Given the description of an element on the screen output the (x, y) to click on. 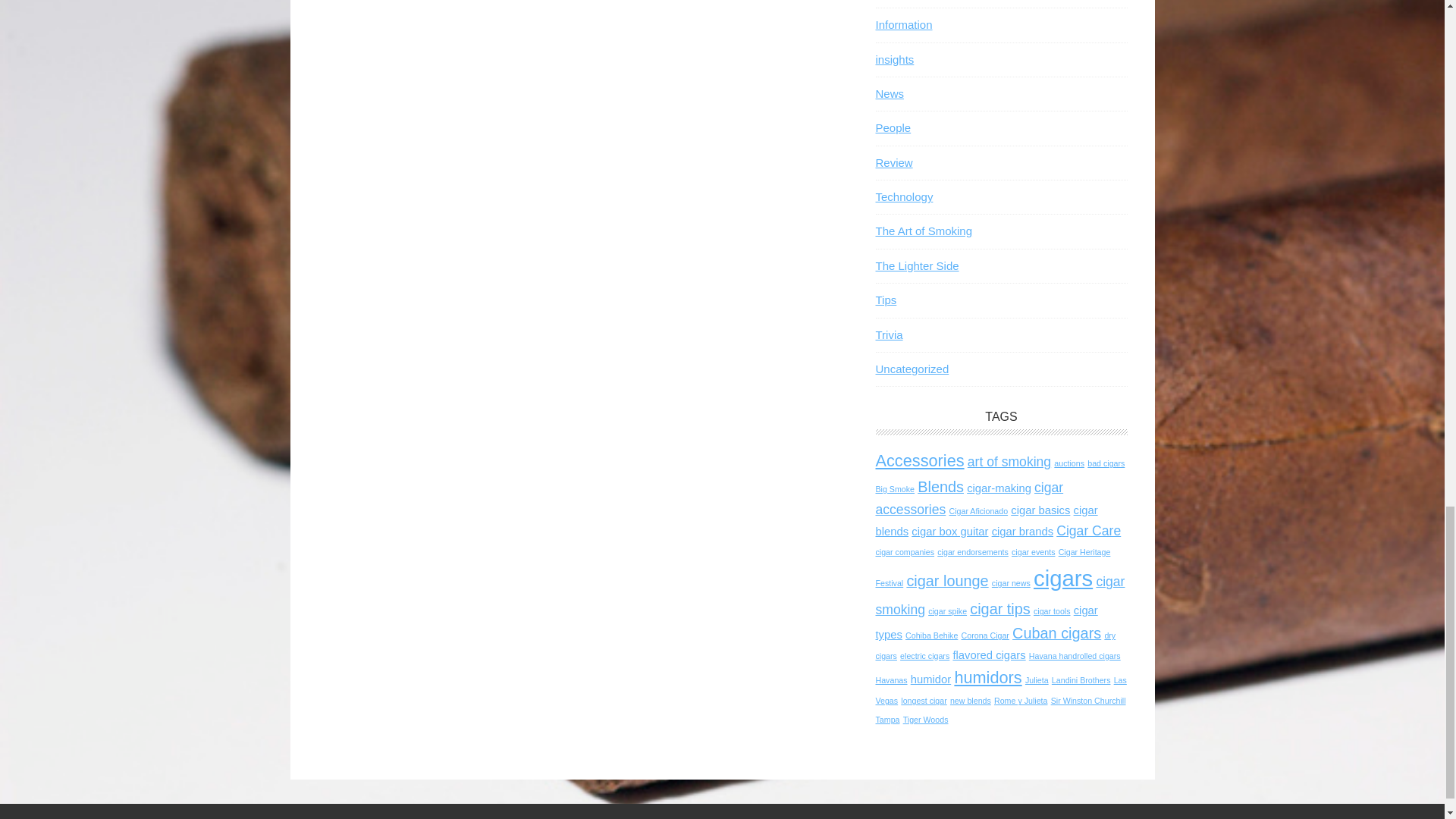
Uncategorized (912, 368)
Information (903, 24)
Accessories (919, 460)
People (893, 127)
Tips (885, 299)
The Art of Smoking (923, 230)
Review (893, 162)
Technology (904, 196)
Trivia (888, 334)
art of smoking (1009, 461)
